Given the description of an element on the screen output the (x, y) to click on. 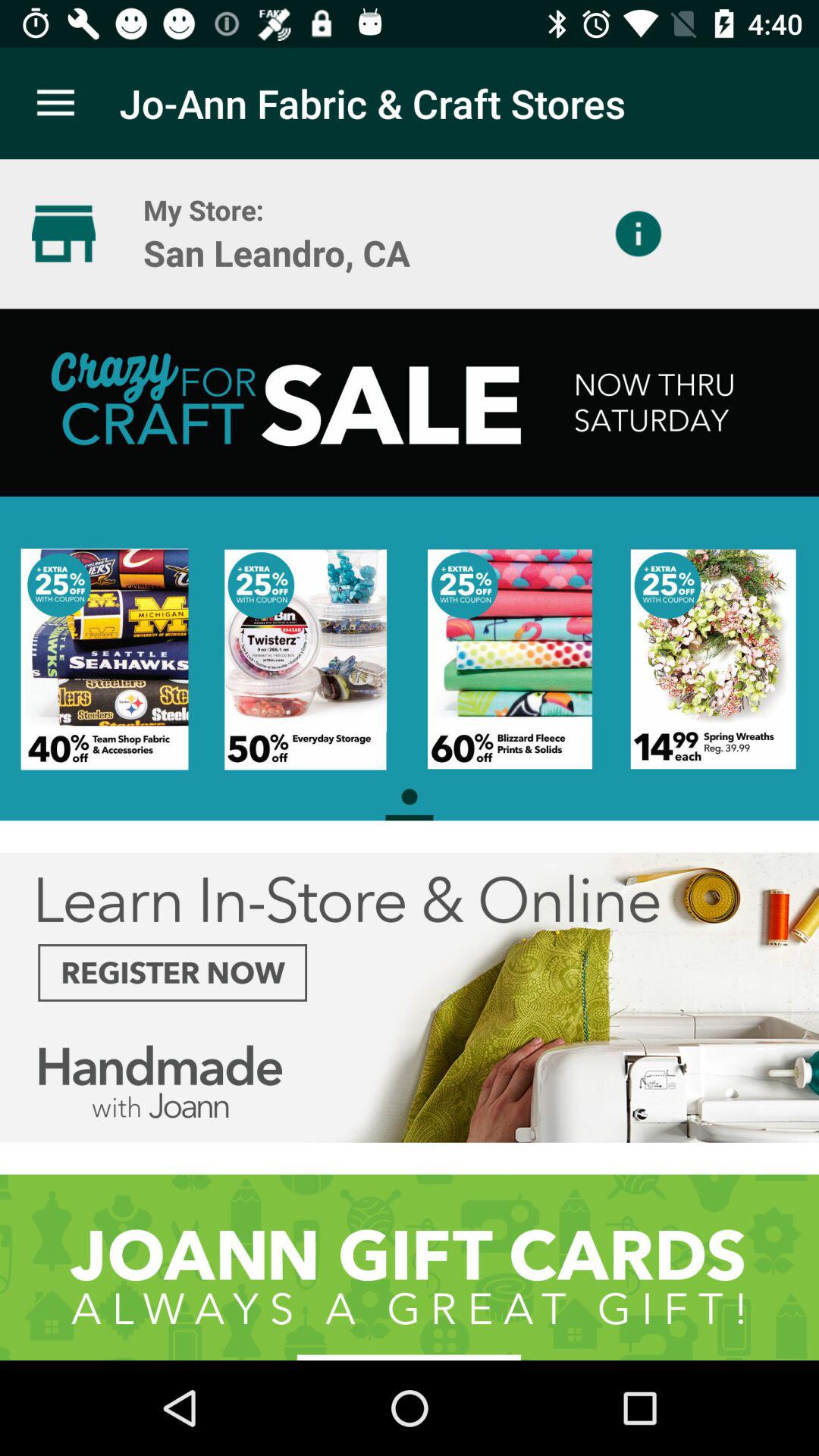
open the item next to san leandro, ca item (638, 233)
